Given the description of an element on the screen output the (x, y) to click on. 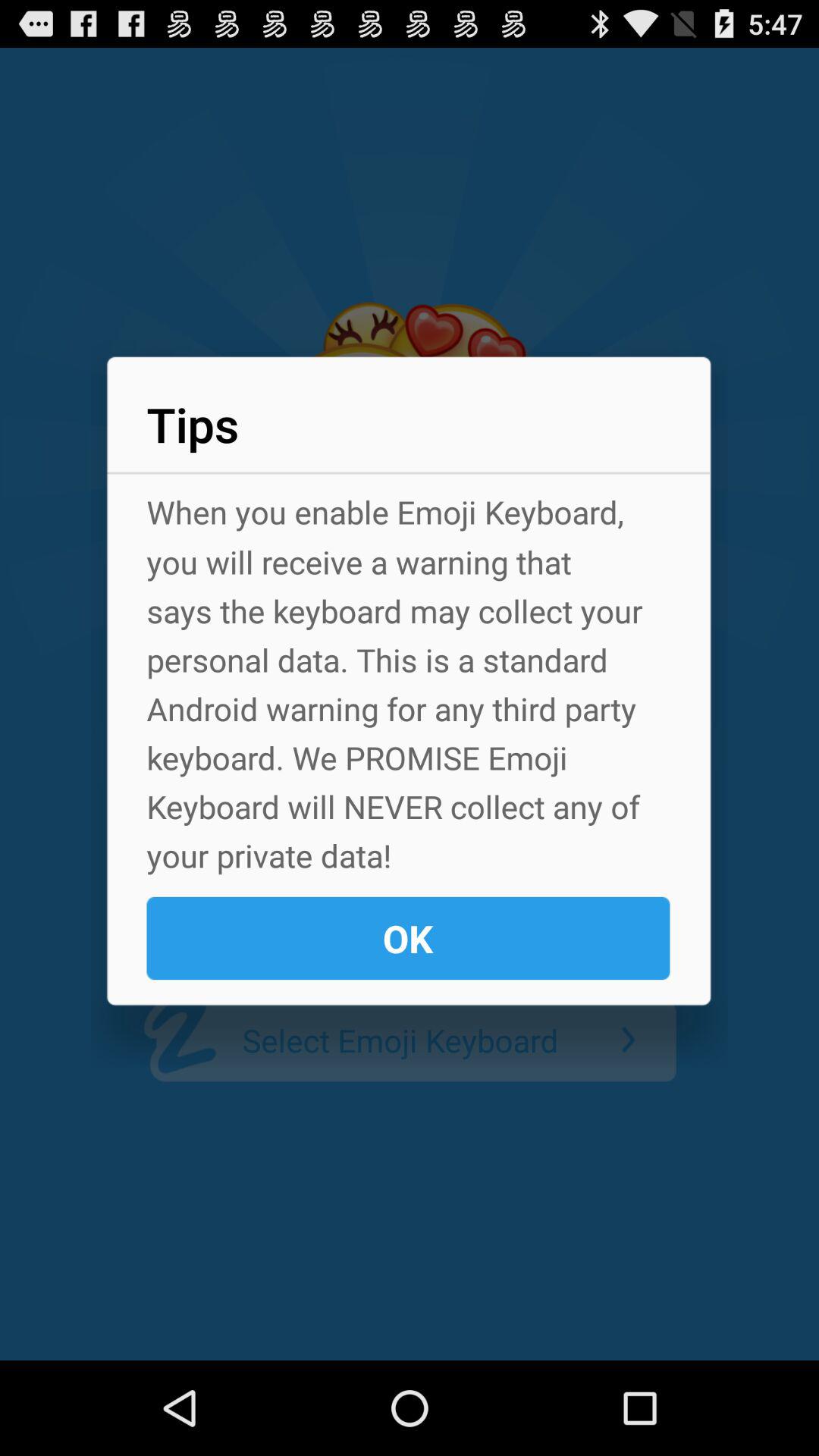
open the ok (407, 937)
